Given the description of an element on the screen output the (x, y) to click on. 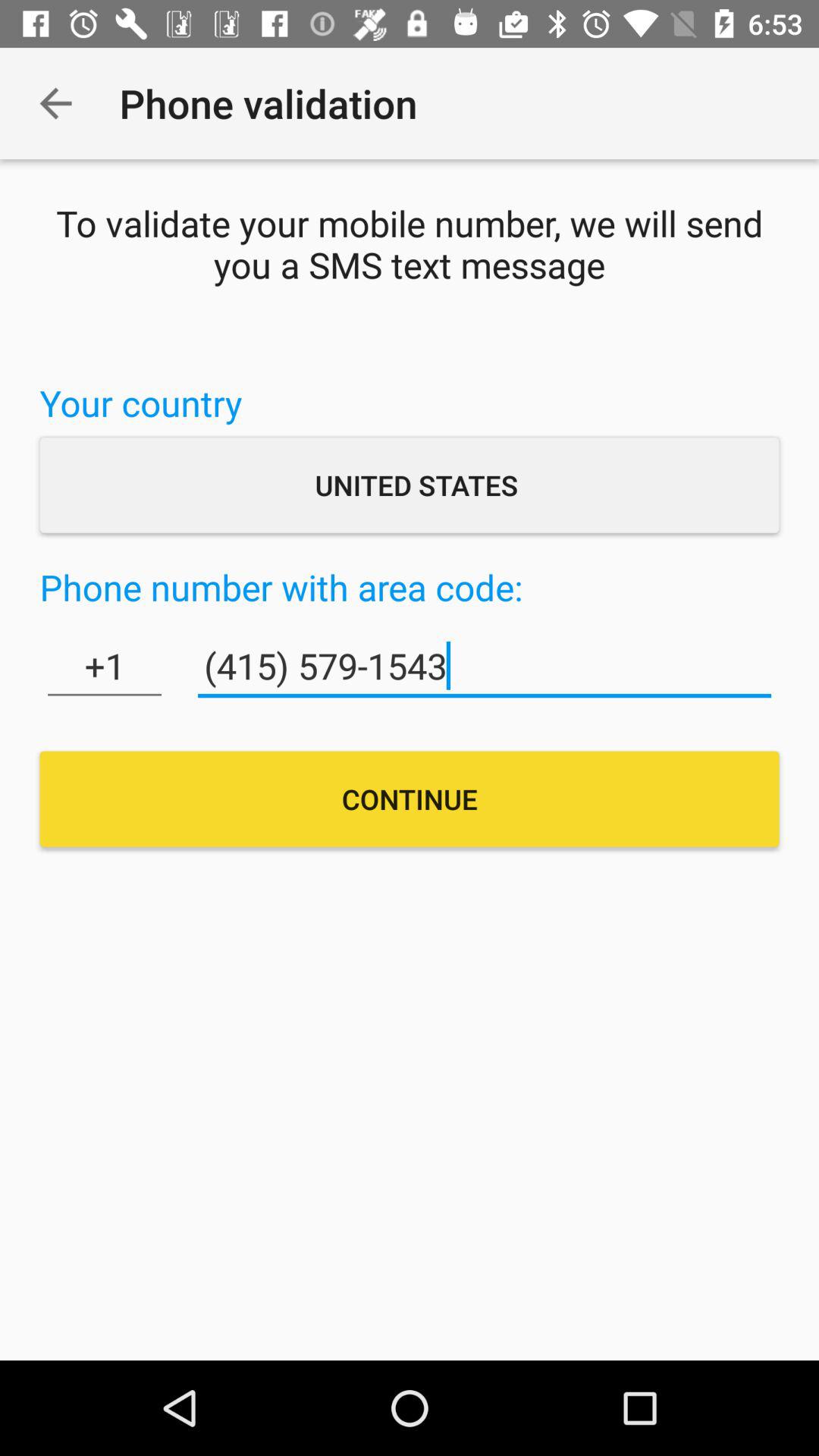
select icon below the phone number with icon (104, 666)
